Given the description of an element on the screen output the (x, y) to click on. 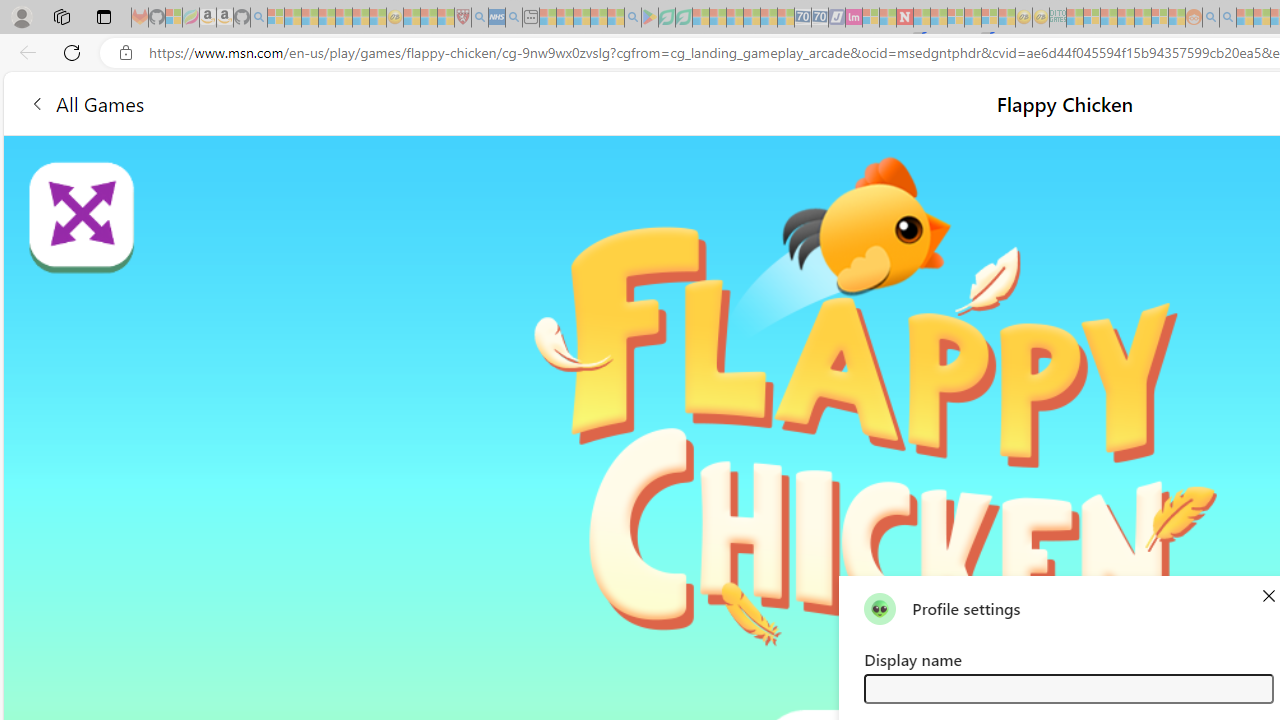
Utah sues federal government - Search - Sleeping (1227, 17)
Cheap Hotels - Save70.com - Sleeping (819, 17)
All Games (373, 102)
Trusted Community Engagement and Contributions | Guidelines (921, 17)
Personal Profile (21, 16)
Back (24, 52)
DITOGAMES AG Imprint - Sleeping (1057, 17)
New tab - Sleeping (530, 17)
list of asthma inhalers uk - Search - Sleeping (479, 17)
